Given the description of an element on the screen output the (x, y) to click on. 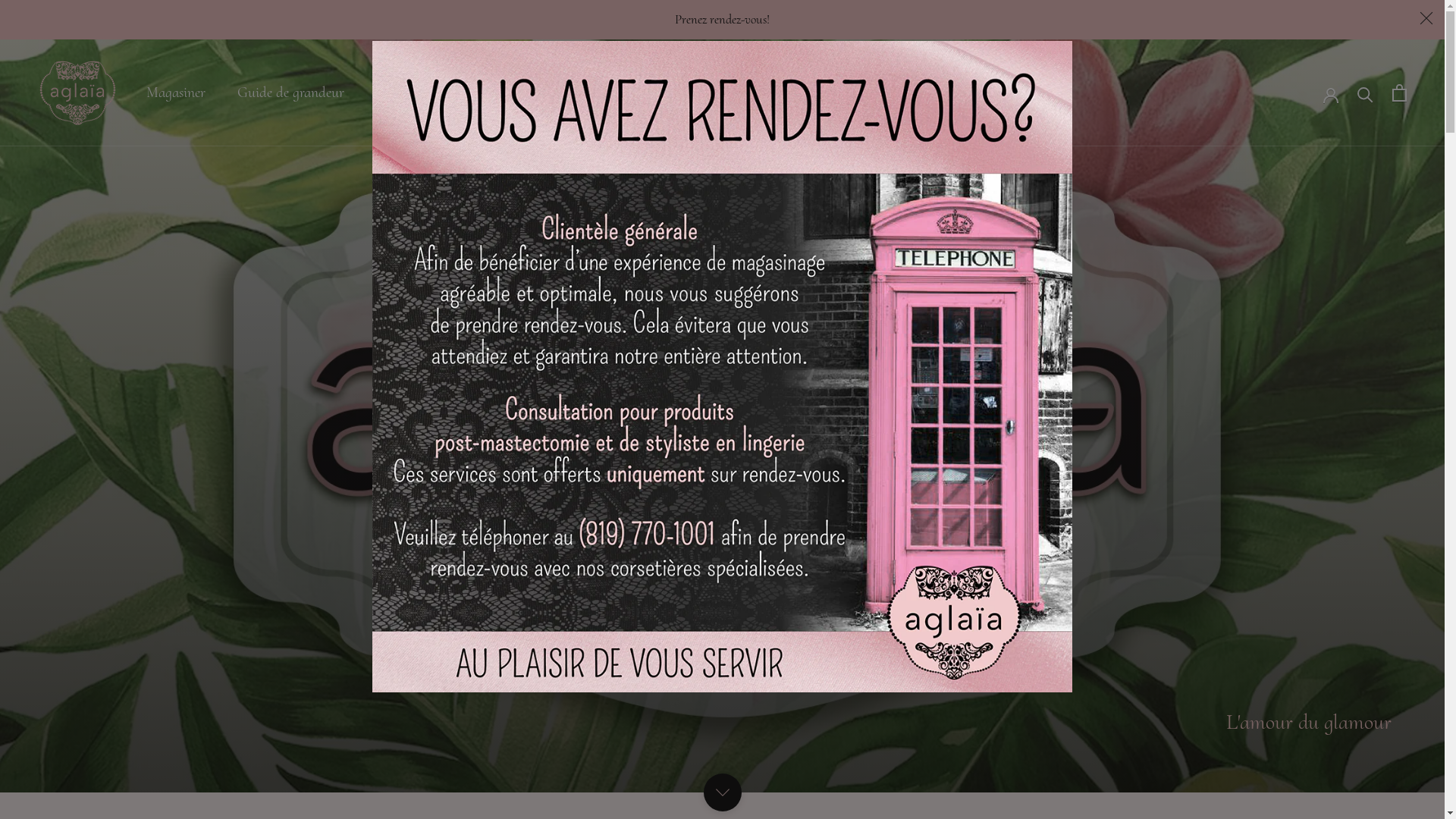
Nous joindre
Nous joindre Element type: text (697, 92)
L'amour du glamour Element type: text (1308, 721)
Club Diva
Club Diva Element type: text (516, 92)
En solde
En solde Element type: text (790, 92)
Magasiner Element type: text (175, 92)
Guide de grandeur
Guide de grandeur Element type: text (290, 92)
Carte Cadeau
Carte Cadeau Element type: text (415, 92)
